Given the description of an element on the screen output the (x, y) to click on. 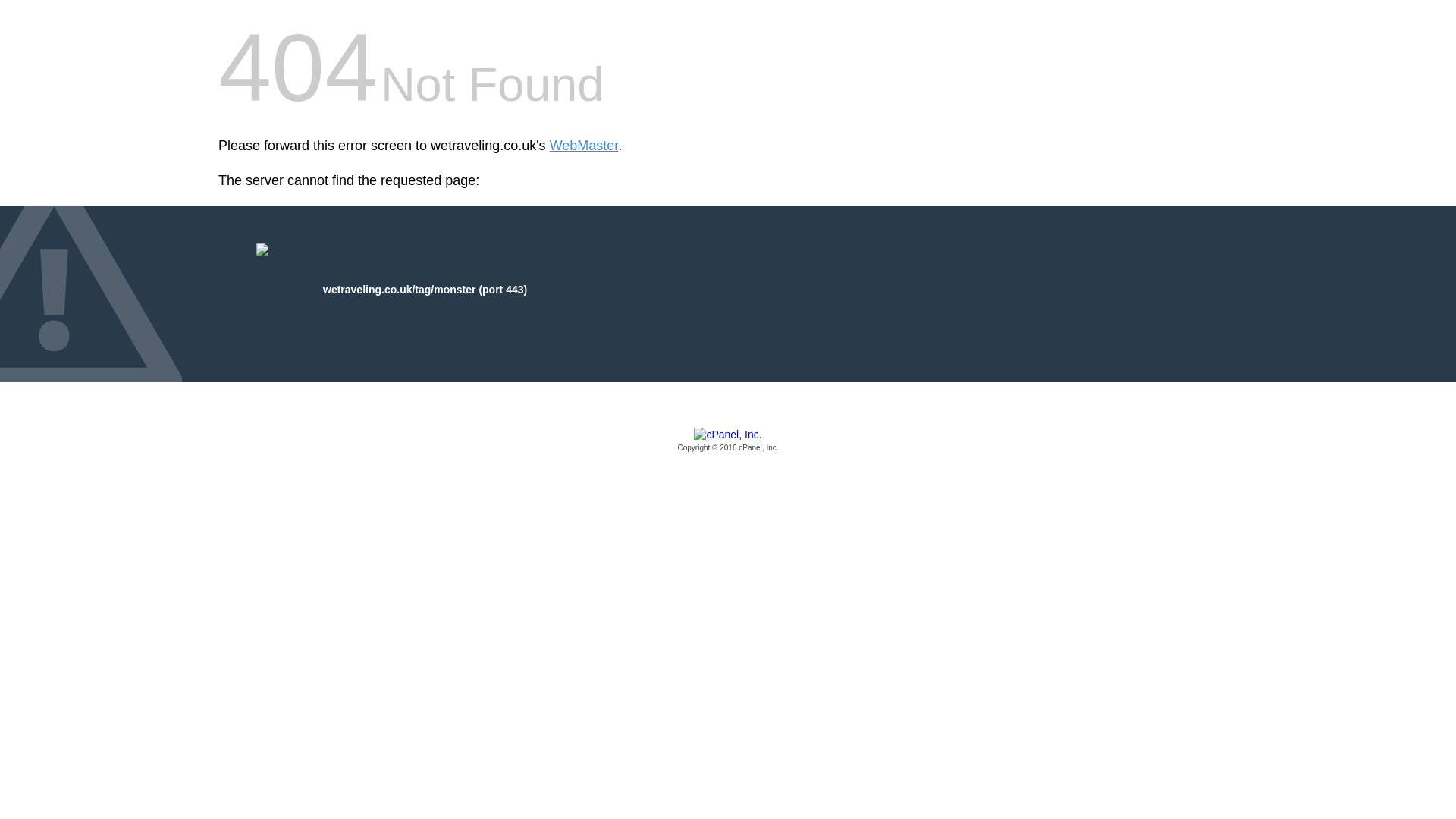
cPanel, Inc. (727, 440)
WebMaster (584, 145)
